Given the description of an element on the screen output the (x, y) to click on. 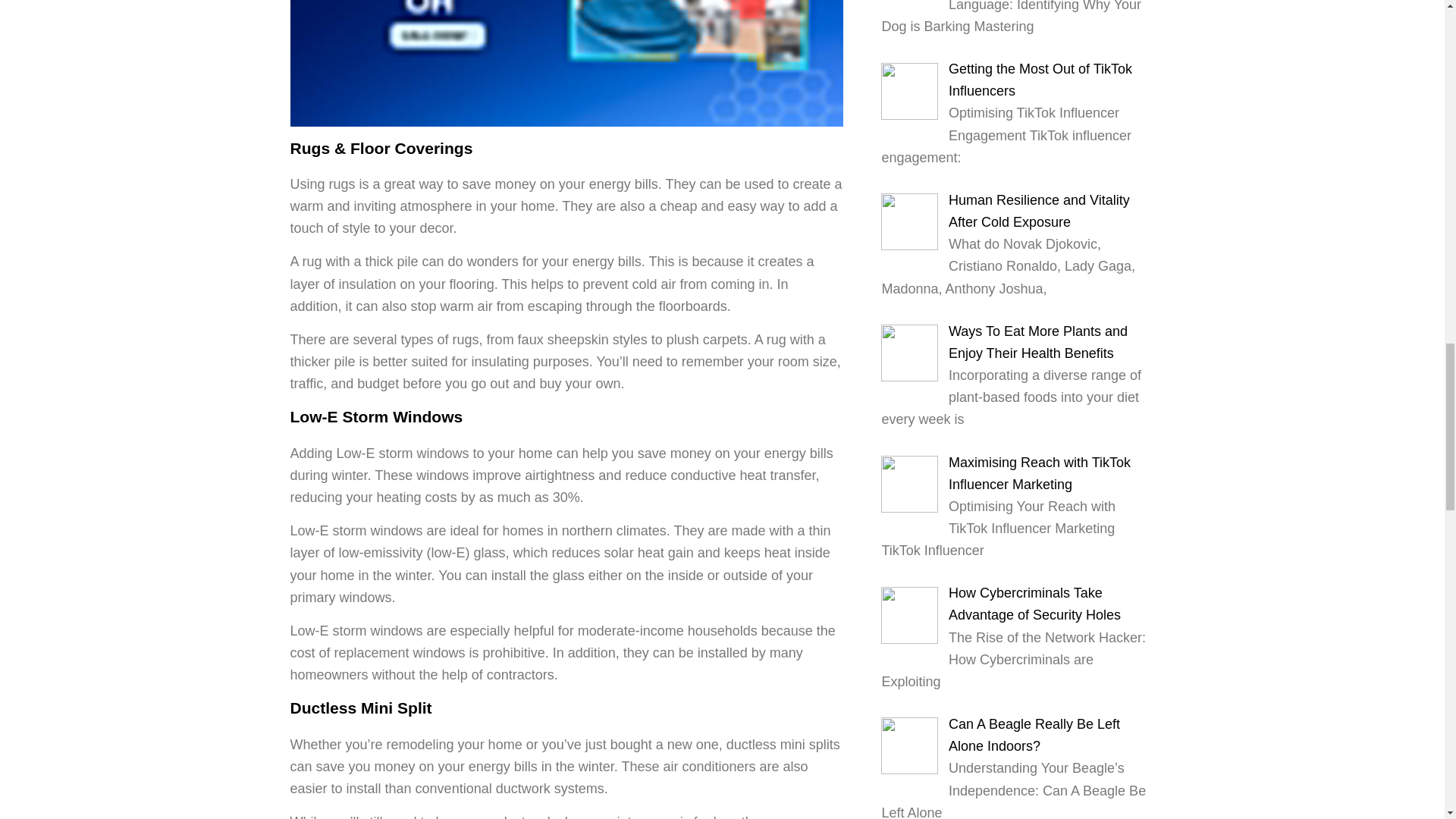
Getting the Most Out of TikTok Influencers (1040, 79)
Human Resilience and Vitality After Cold Exposure (1039, 211)
How Cybercriminals Take Advantage of Security Holes (1035, 603)
Can A Beagle Really Be Left Alone Indoors? (1034, 734)
Ways To Eat More Plants and Enjoy Their Health Benefits (1037, 342)
Maximising Reach with TikTok Influencer Marketing (1040, 473)
